Given the description of an element on the screen output the (x, y) to click on. 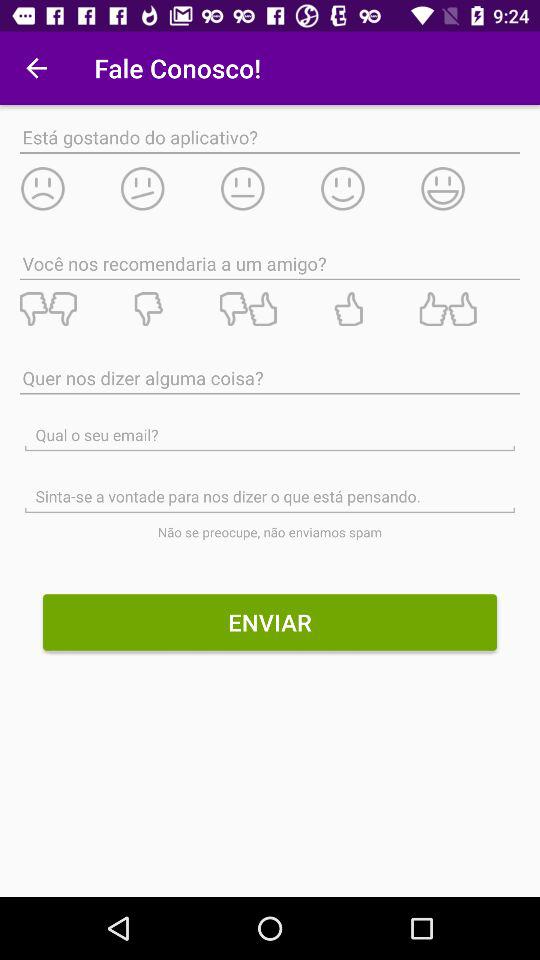
swipe until the enviar icon (269, 622)
